Given the description of an element on the screen output the (x, y) to click on. 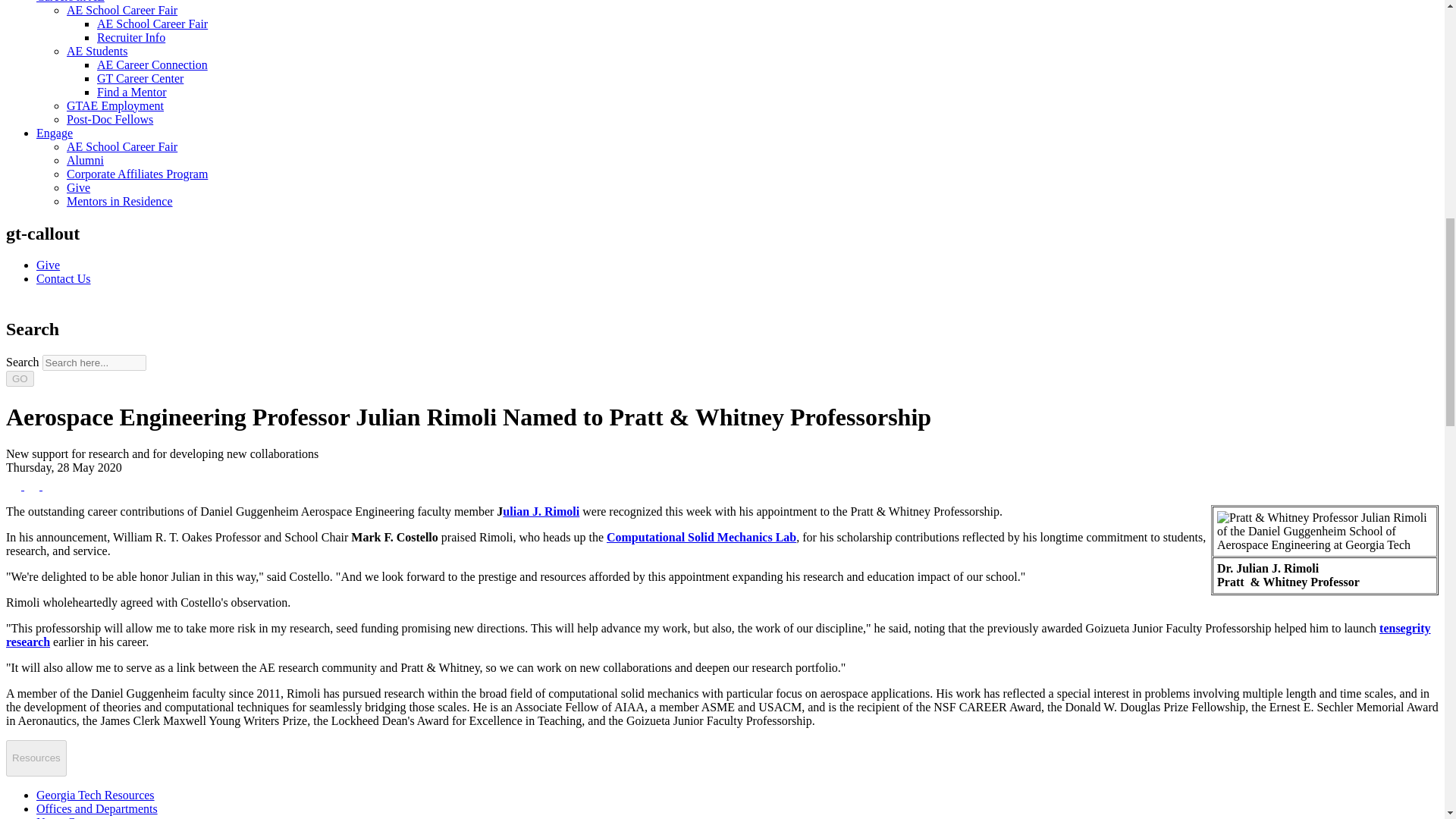
Georgia Tech Resources Main Menu Category (95, 794)
Georgia Tech News Center (67, 817)
Enter the terms you wish to search for. (94, 362)
Share to Facebook (14, 485)
GO (19, 378)
Share to Linkedin (33, 485)
Share to Email (50, 485)
Georgia Tech Offices and Departments Directory (96, 808)
